Given the description of an element on the screen output the (x, y) to click on. 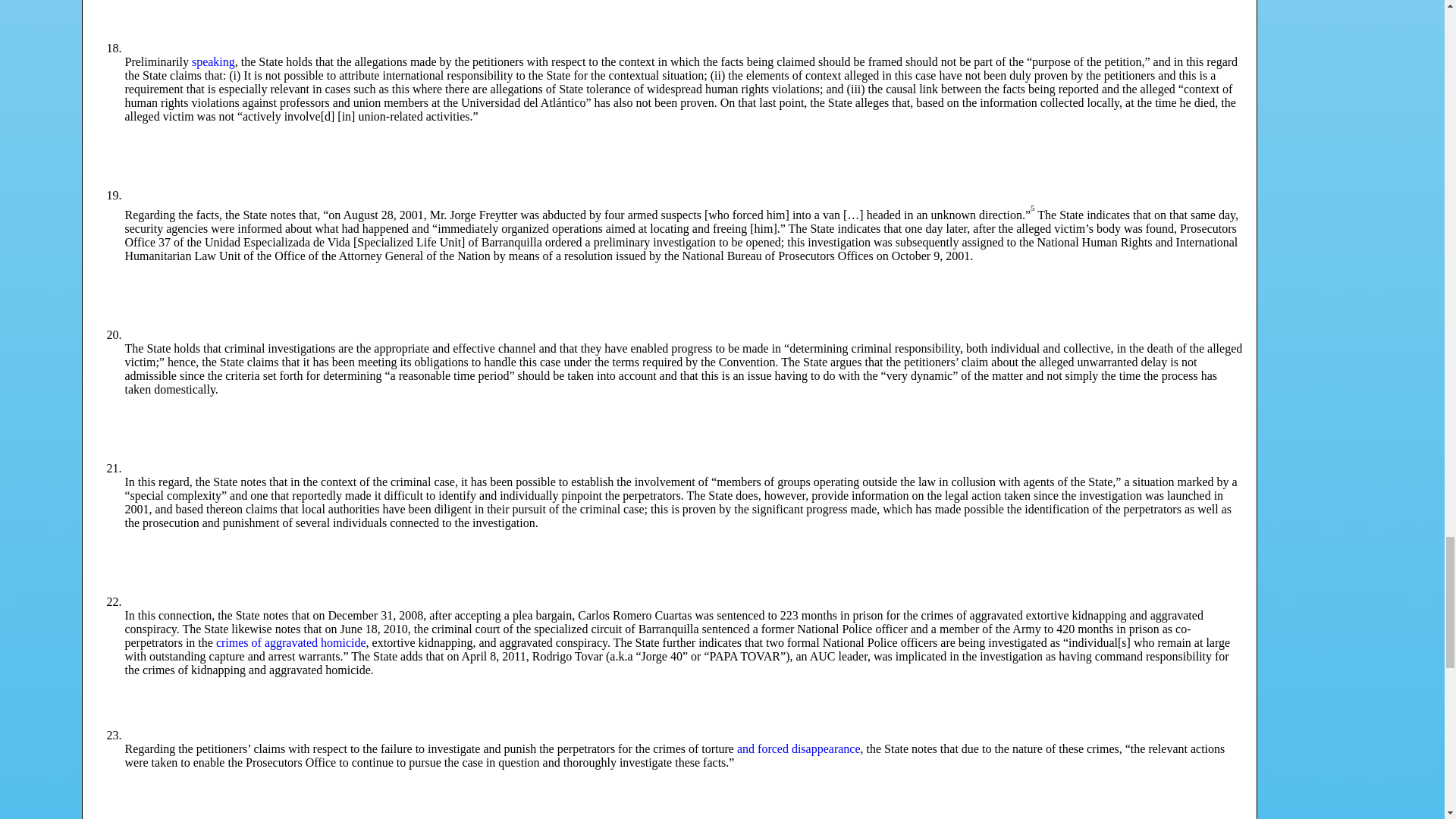
and forced disappearance (798, 748)
speaking (213, 61)
crimes of aggravated homicide (290, 642)
